Given the description of an element on the screen output the (x, y) to click on. 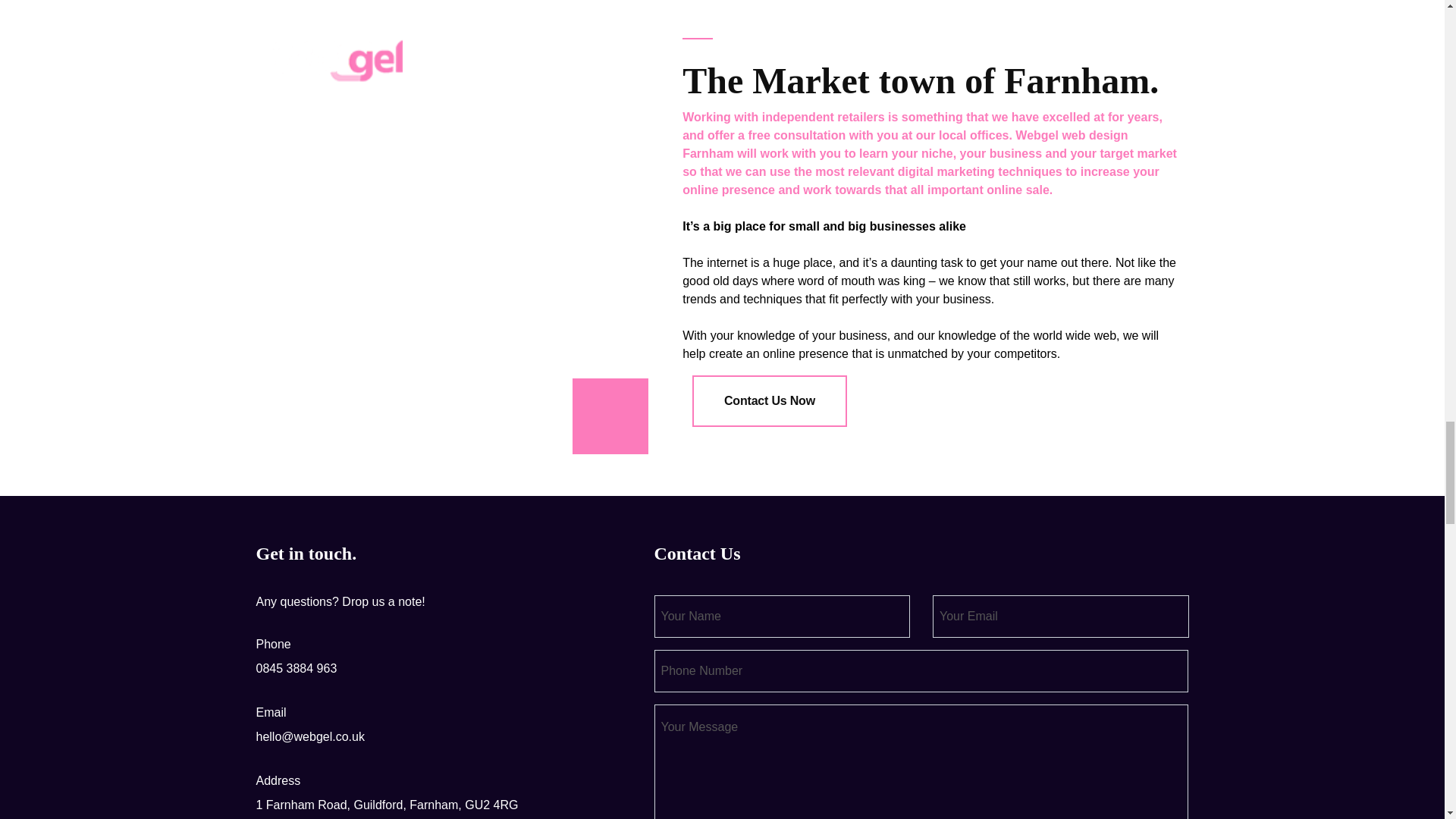
Your Name (781, 616)
Your Email (1061, 616)
Phone Number (920, 671)
